Given the description of an element on the screen output the (x, y) to click on. 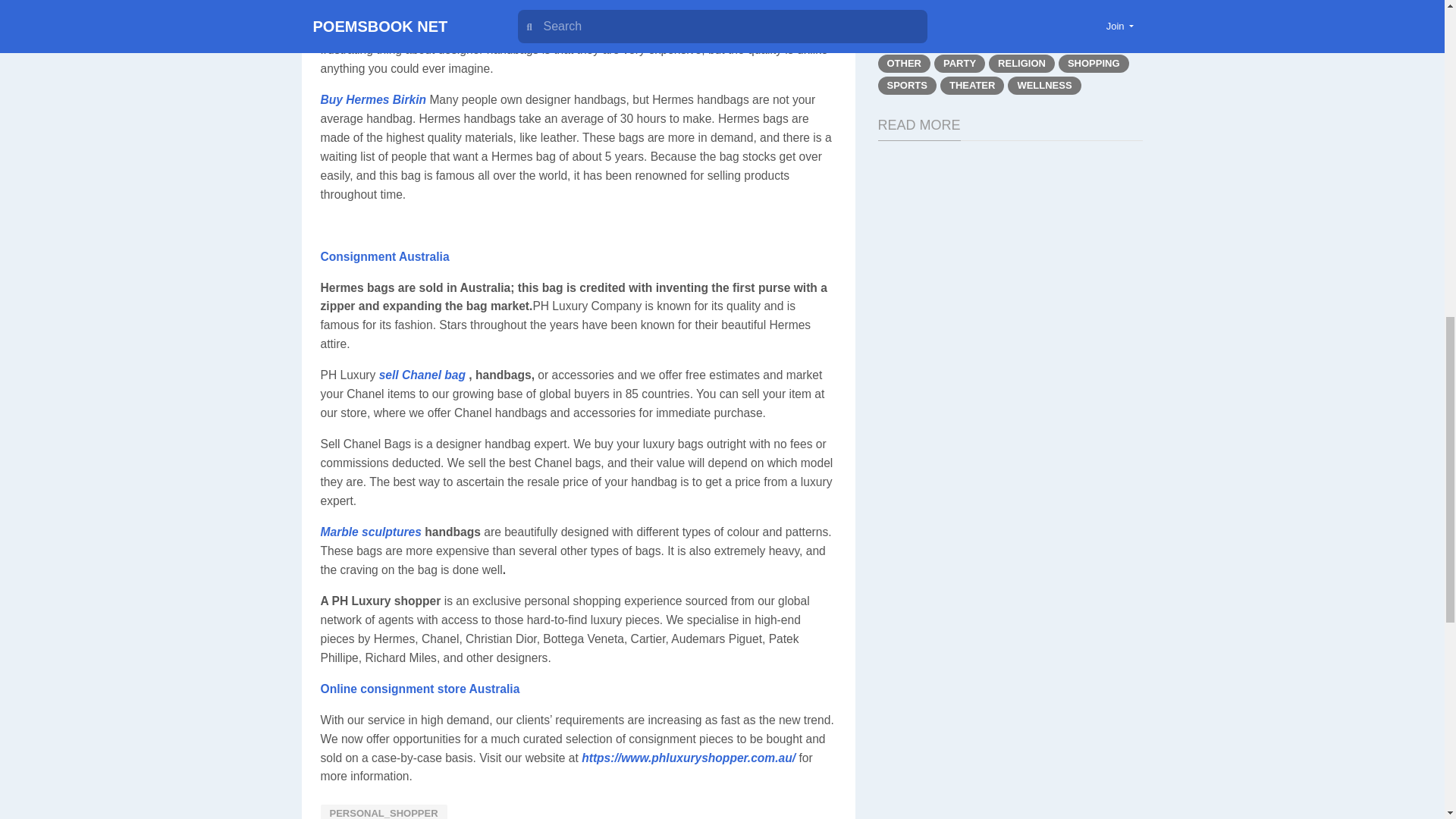
Online consignment store Australia (419, 688)
Marble sculptures (370, 531)
Consignment Australia (384, 256)
sell Chanel bag (421, 374)
Buy Hermes Birkin (373, 99)
